Given the description of an element on the screen output the (x, y) to click on. 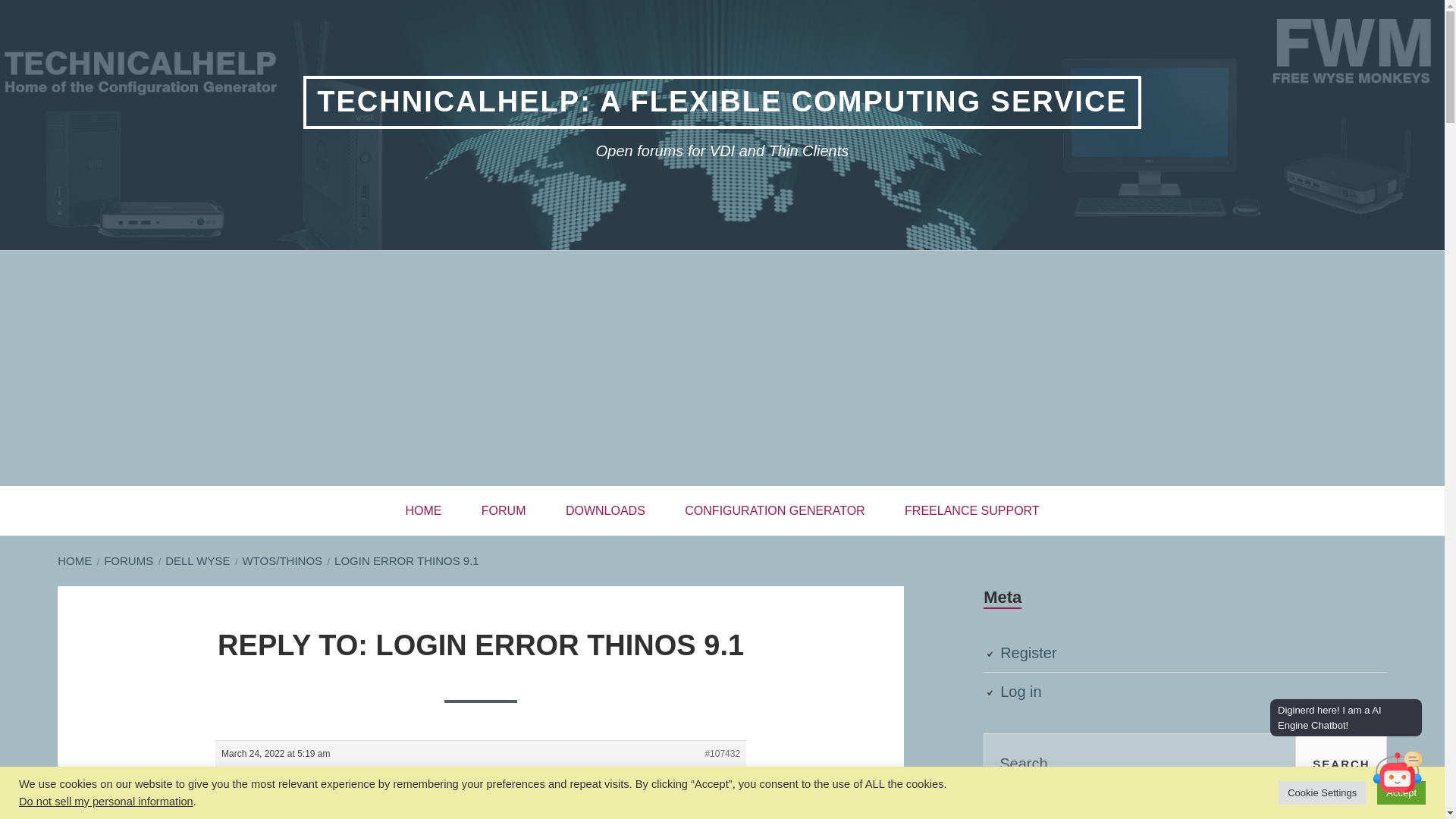
LOGIN ERROR THINOS 9.1 (406, 559)
DOWNLOADS (605, 510)
DELL WYSE (197, 559)
Register (1028, 652)
Log in (1021, 691)
View schurmb's profile (258, 800)
CONFIGURATION GENERATOR (774, 510)
Search (1340, 763)
FORUMS (127, 559)
HOME (423, 510)
